Given the description of an element on the screen output the (x, y) to click on. 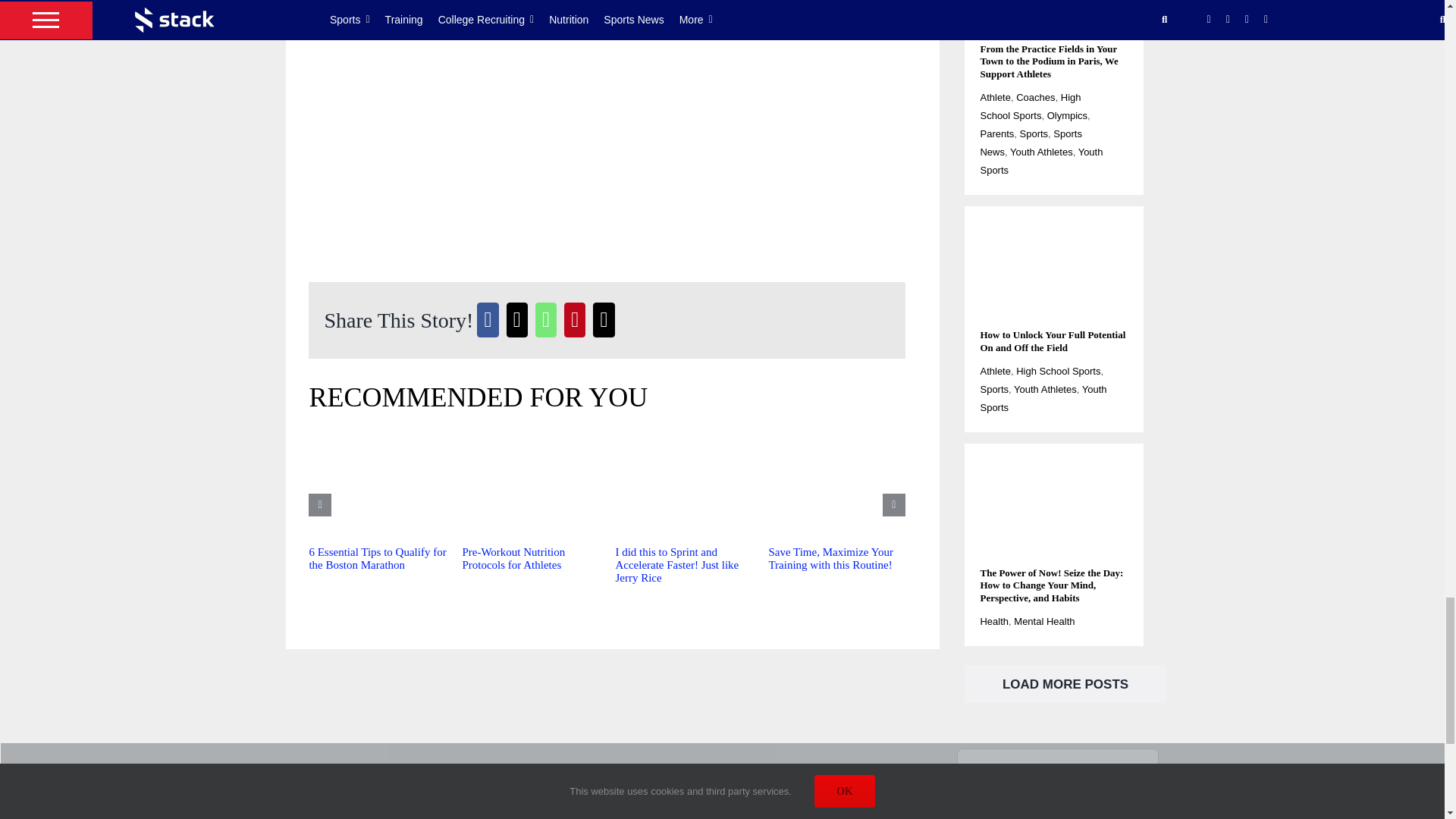
Thermopolis LT 2-N-1 Beanie - STACK (607, 94)
